Given the description of an element on the screen output the (x, y) to click on. 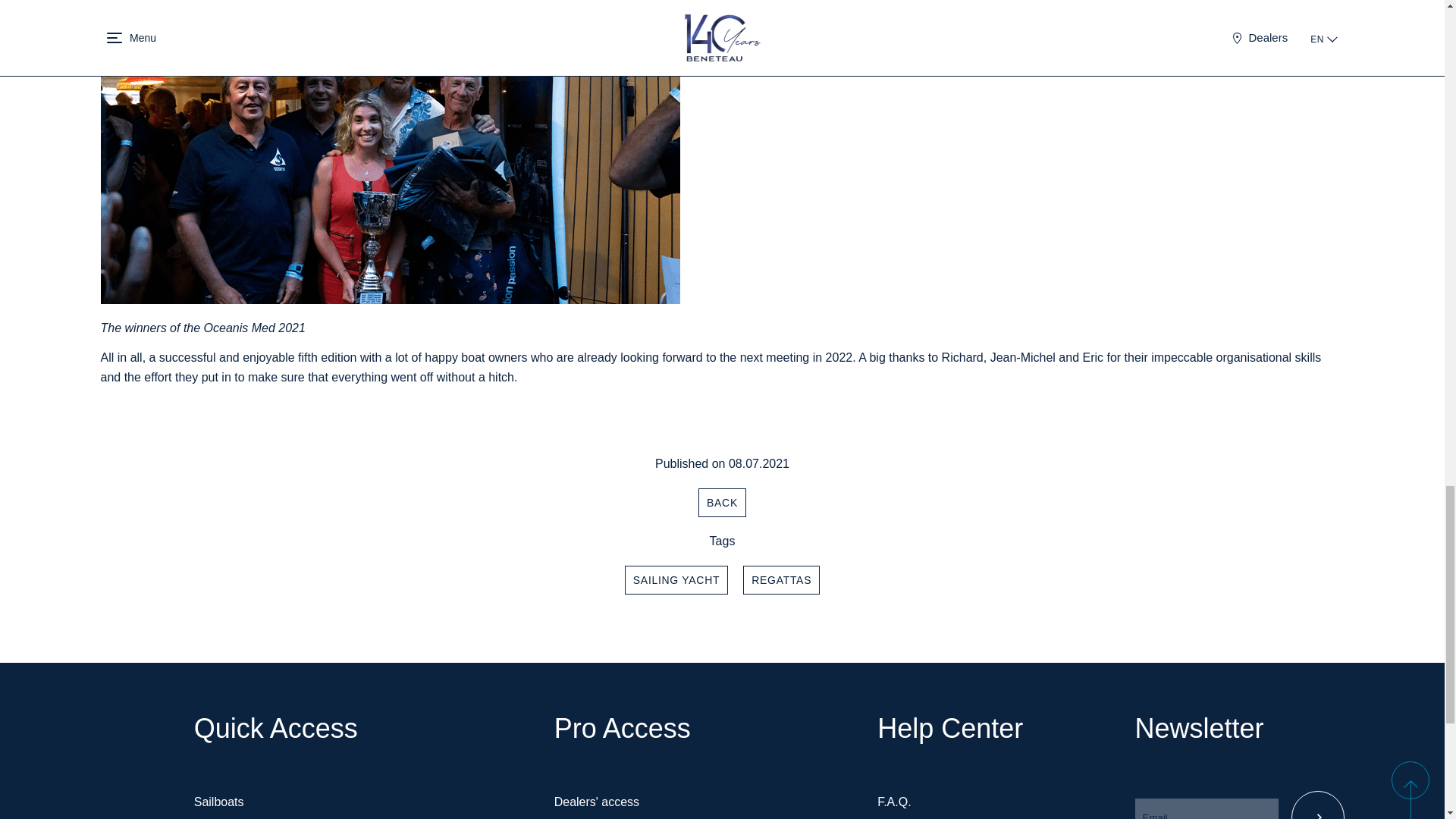
Send (1316, 805)
